Given the description of an element on the screen output the (x, y) to click on. 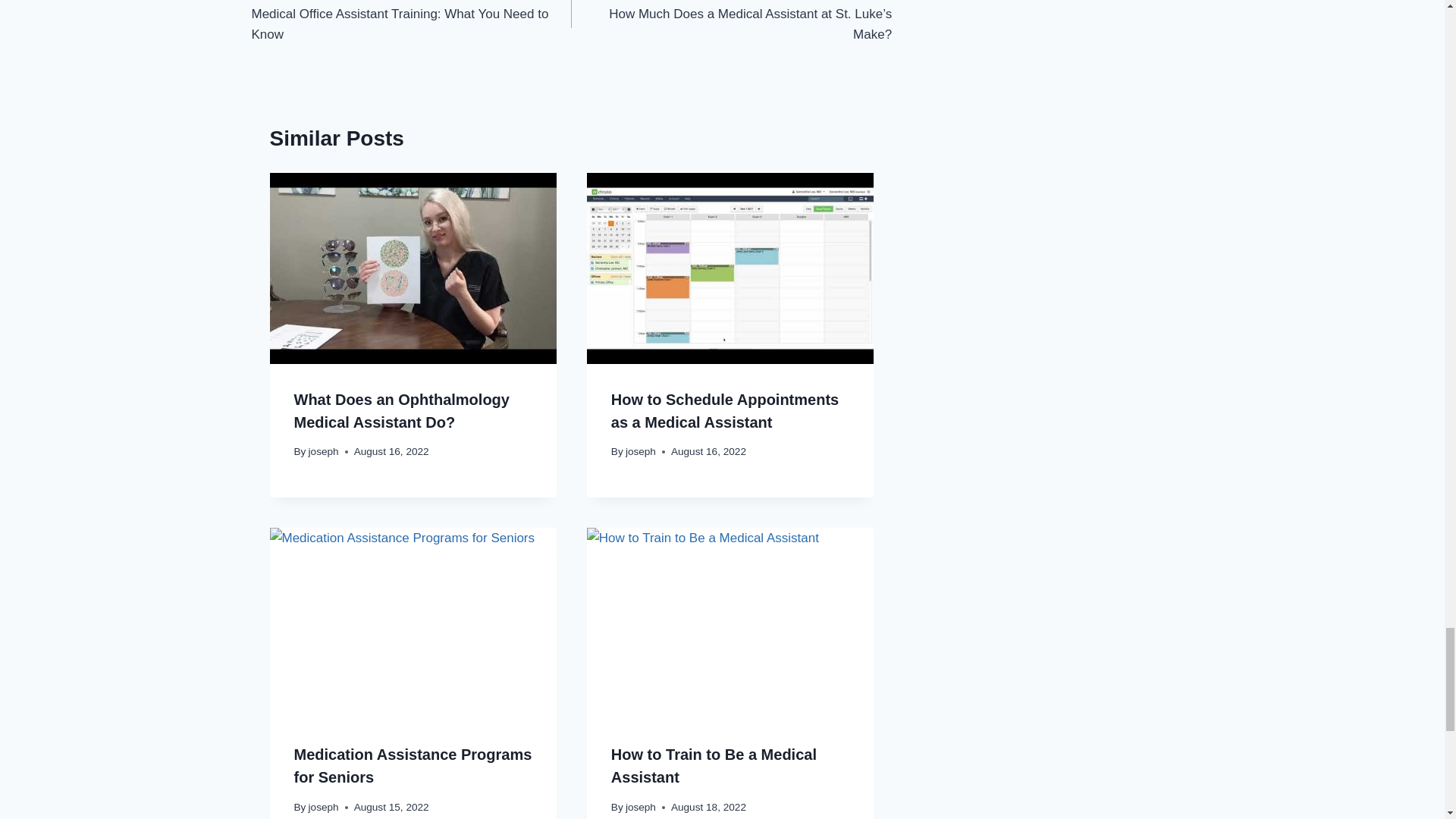
joseph (323, 451)
How to Schedule Appointments as a Medical Assistant (724, 410)
joseph (641, 451)
What Does an Ophthalmology Medical Assistant Do? (401, 410)
